Given the description of an element on the screen output the (x, y) to click on. 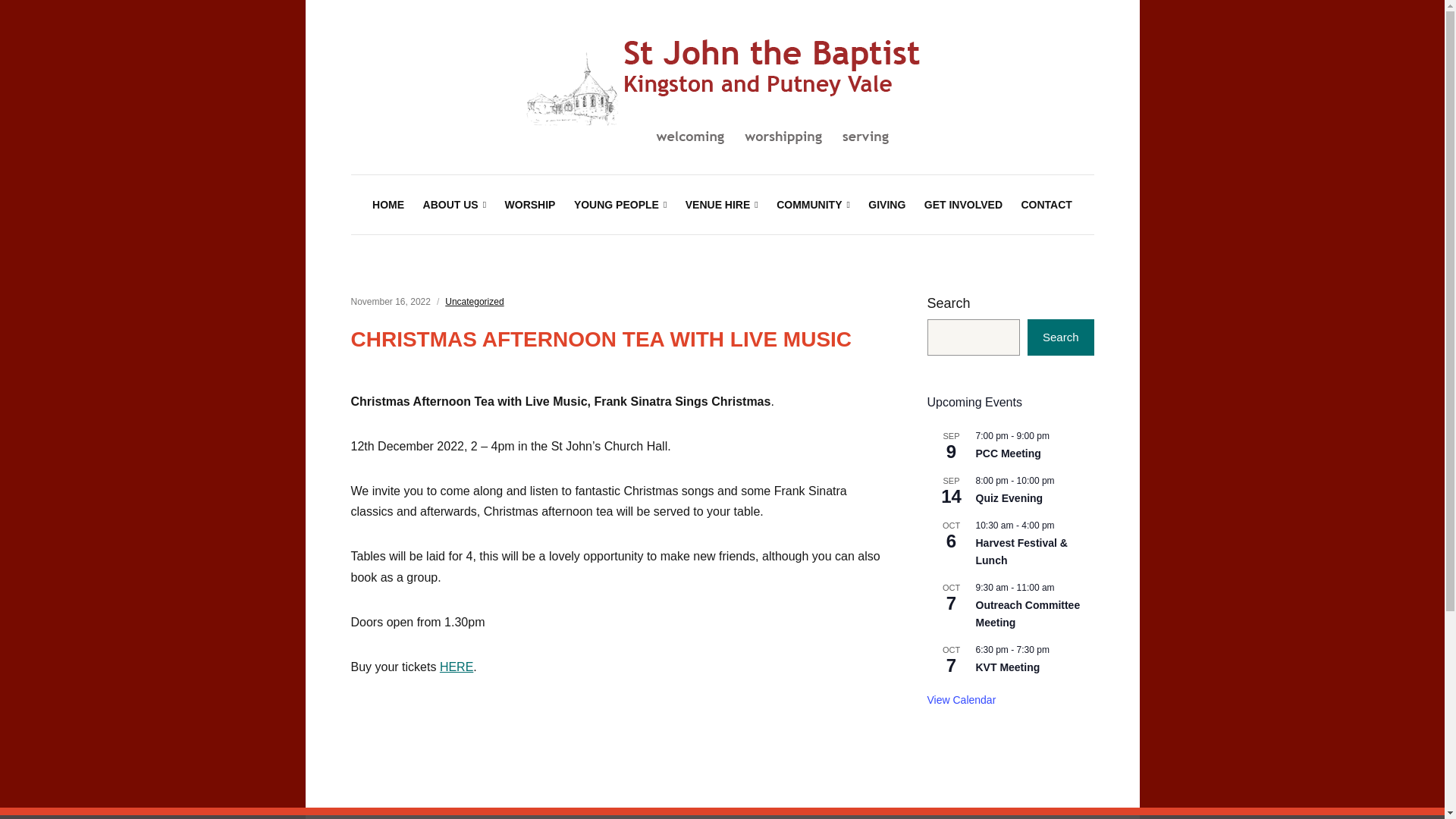
HOME (388, 204)
KVT Meeting (1007, 667)
Outreach Committee Meeting (1027, 613)
YOUNG PEOPLE (620, 204)
ABOUT US (454, 204)
Quiz Evening (1008, 498)
PCC Meeting (1008, 453)
View more events. (960, 699)
WORSHIP (530, 204)
